Given the description of an element on the screen output the (x, y) to click on. 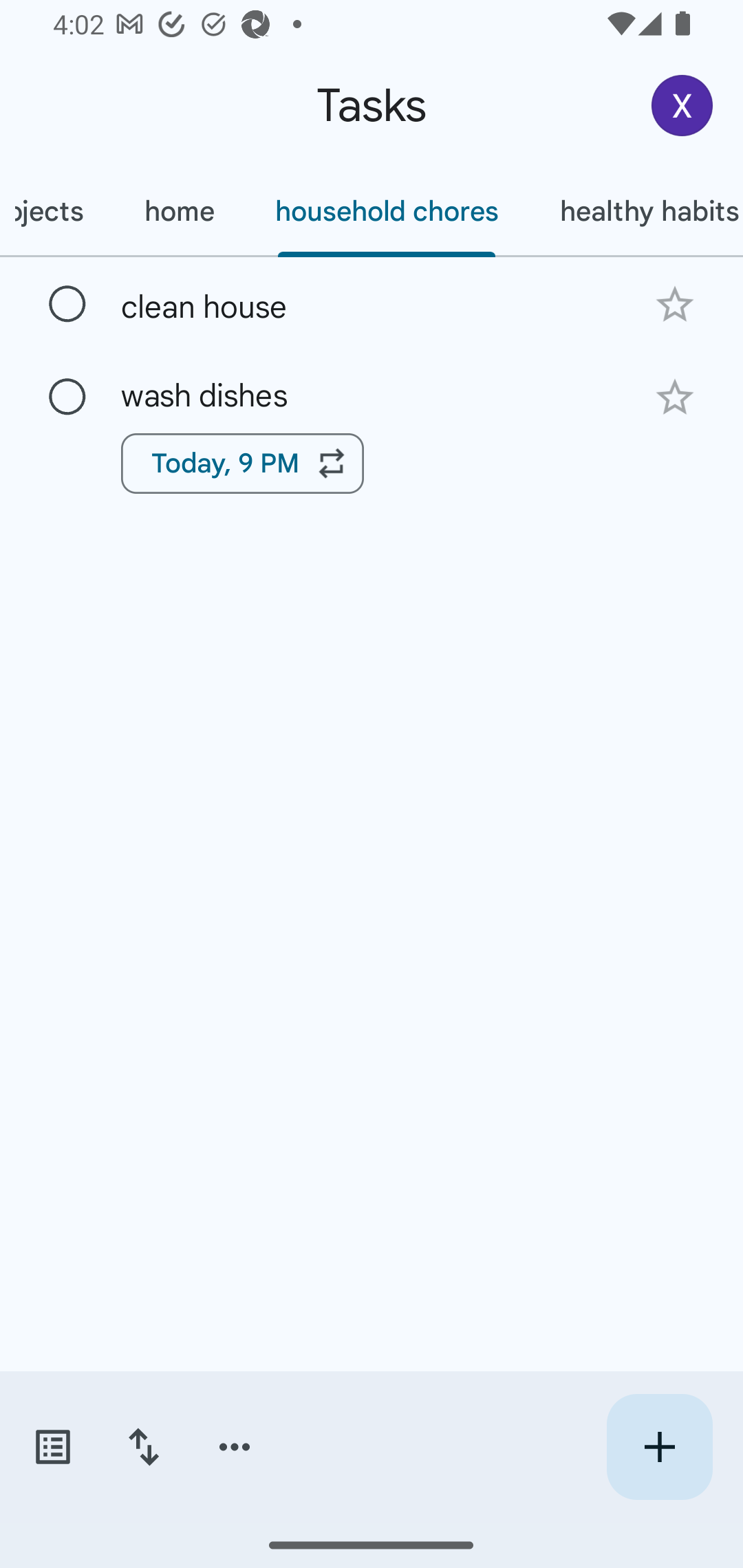
projects (56, 211)
home (178, 211)
healthy habits (636, 211)
clean house clean house Add star Mark as complete (371, 303)
Add star (674, 303)
Mark as complete (67, 304)
Add star (674, 397)
Mark as complete (67, 397)
Today, 9 PM (242, 463)
Switch task lists (52, 1447)
Create new task (659, 1446)
Change sort order (143, 1446)
More options (234, 1446)
